Given the description of an element on the screen output the (x, y) to click on. 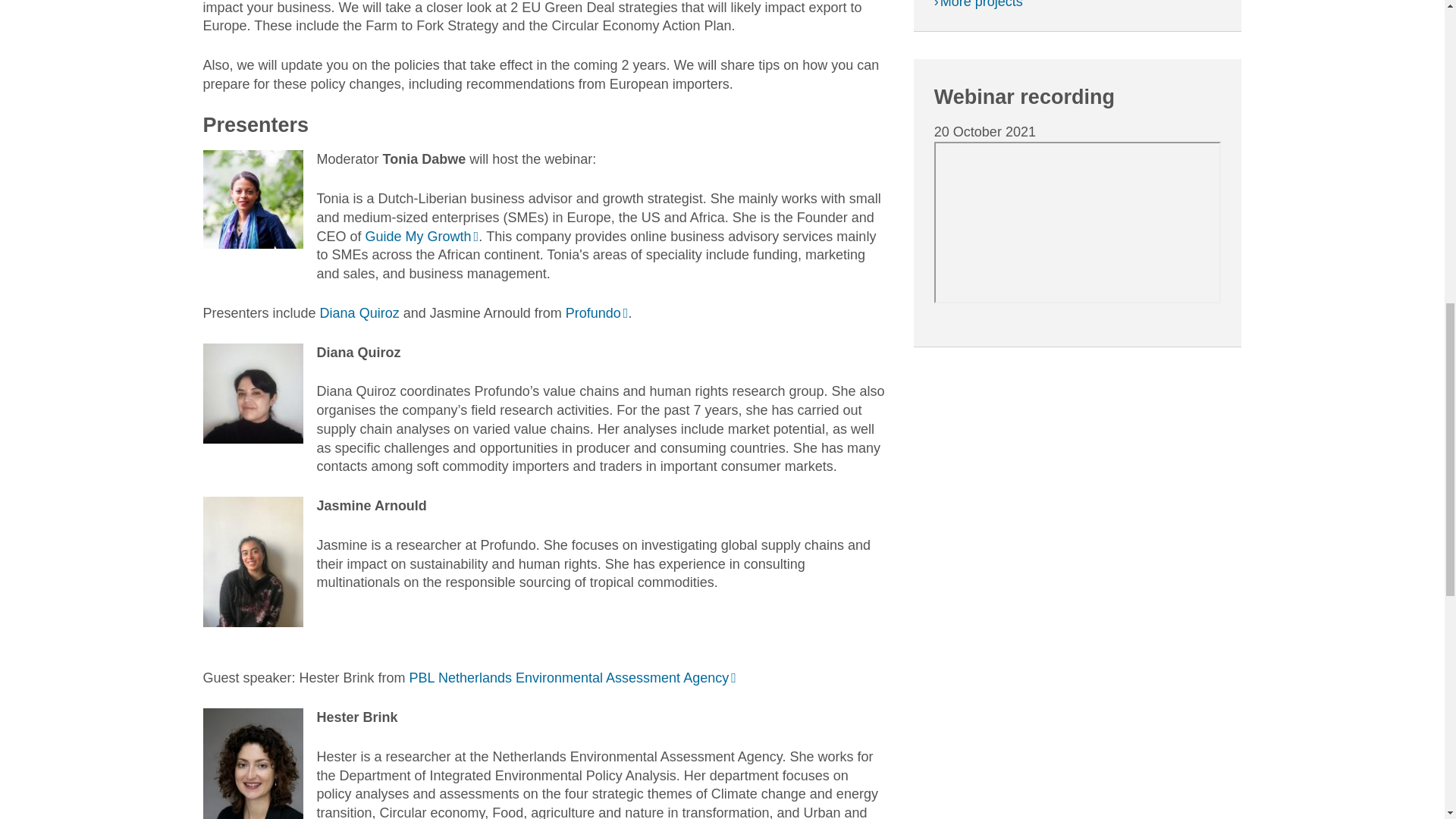
Profundo (597, 313)
Guide My Growth (422, 236)
PBL Netherlands Environmental Assessment Agency (572, 677)
More projects (978, 4)
Diana Quiroz (361, 313)
